Given the description of an element on the screen output the (x, y) to click on. 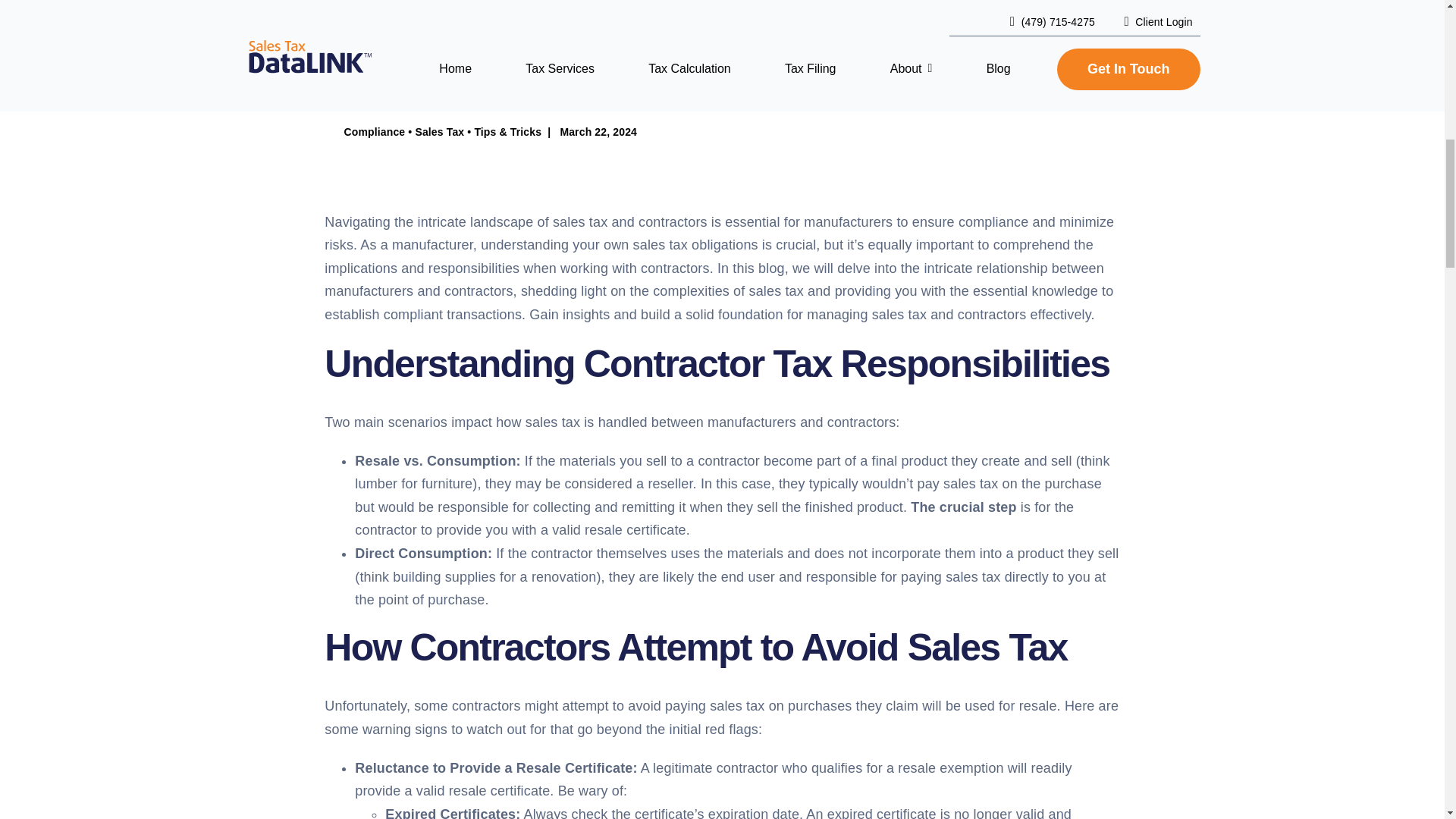
Sales Tax (439, 132)
Compliance (373, 132)
